Given the description of an element on the screen output the (x, y) to click on. 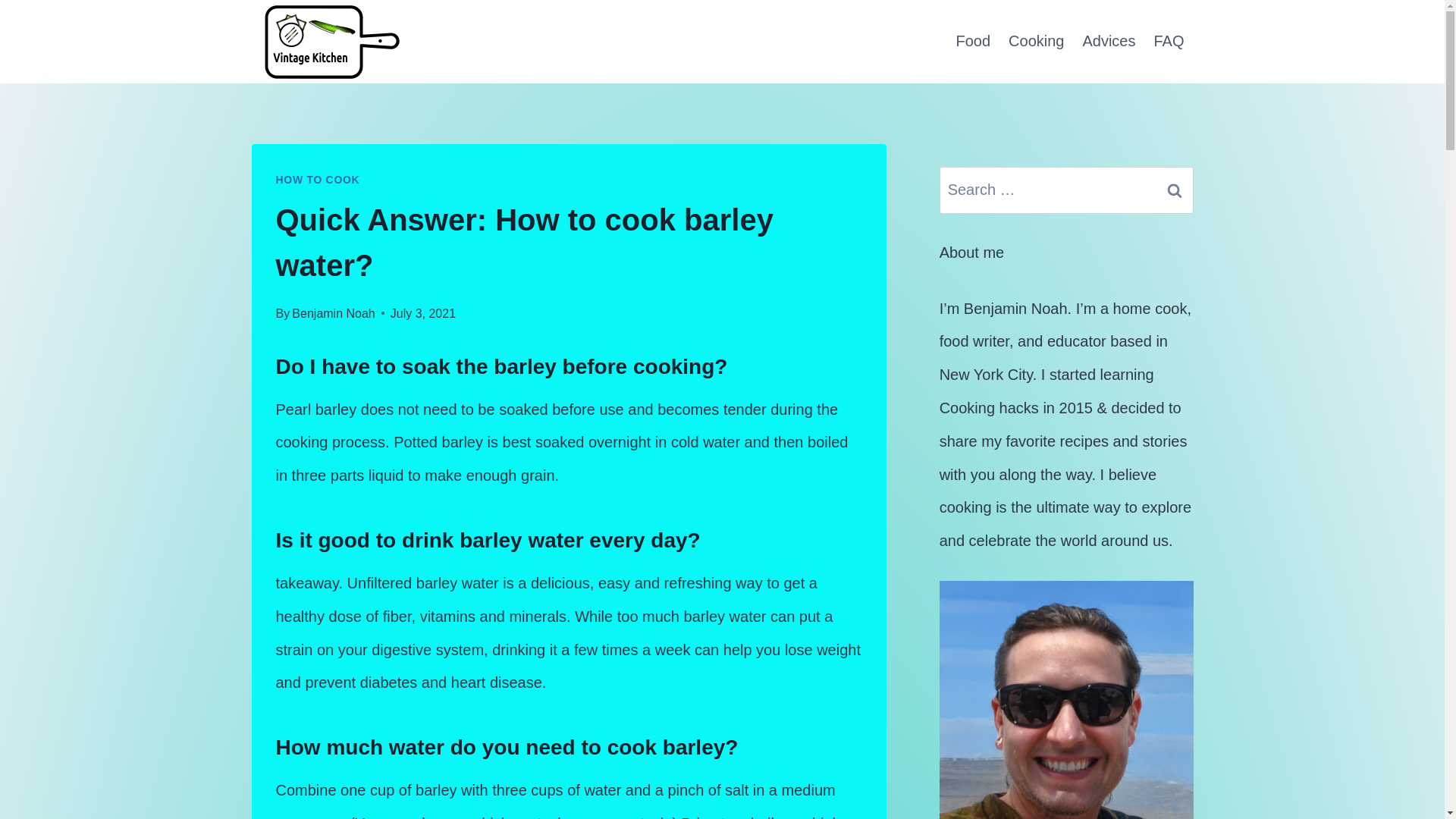
Benjamin Noah (333, 313)
Food (972, 41)
Advices (1108, 41)
HOW TO COOK (317, 179)
FAQ (1168, 41)
Cooking (1035, 41)
